Given the description of an element on the screen output the (x, y) to click on. 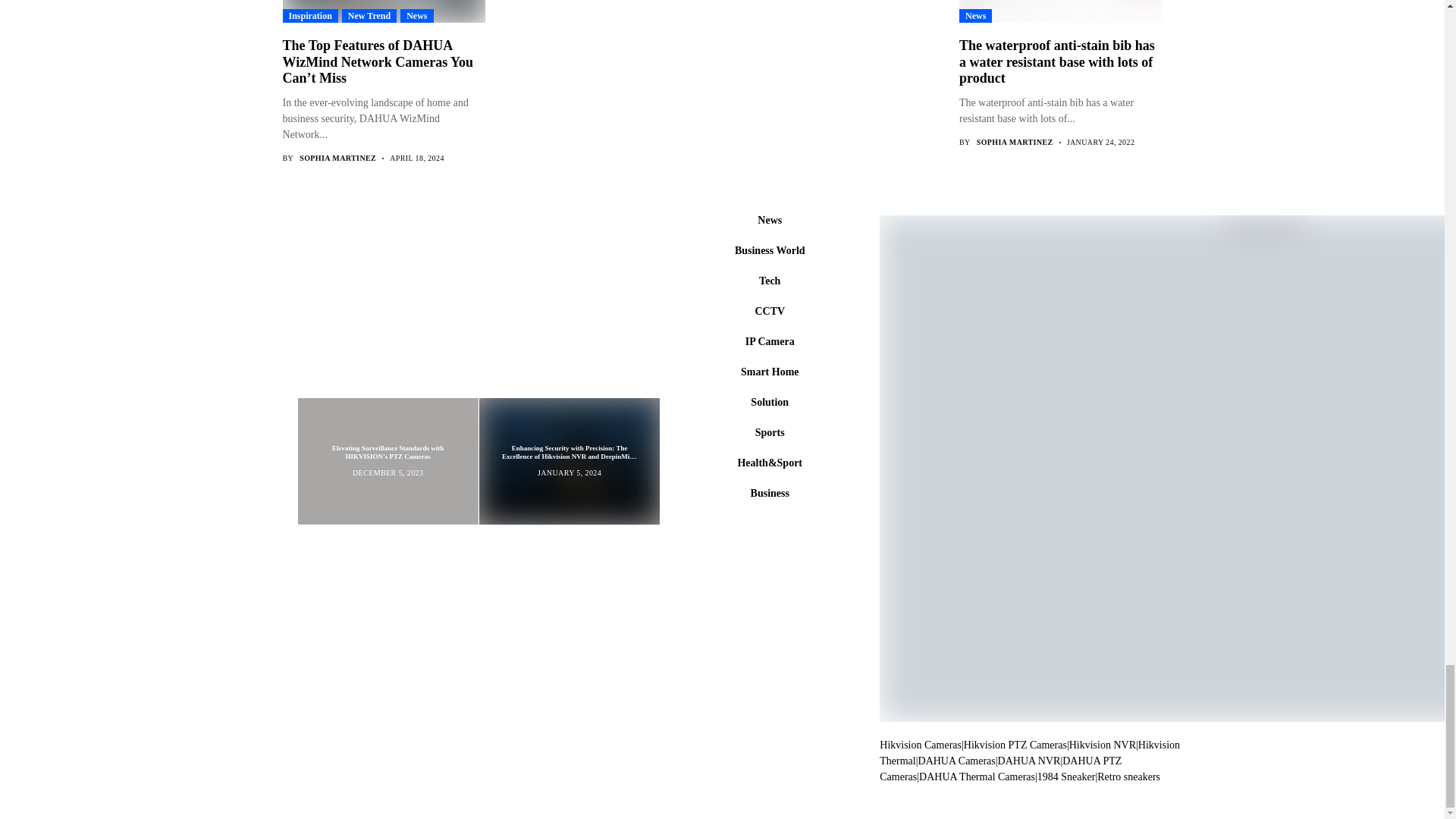
Posts by Sophia Martinez (337, 157)
Posts by Sophia Martinez (1014, 142)
HIKVISION Cameras (919, 745)
